Given the description of an element on the screen output the (x, y) to click on. 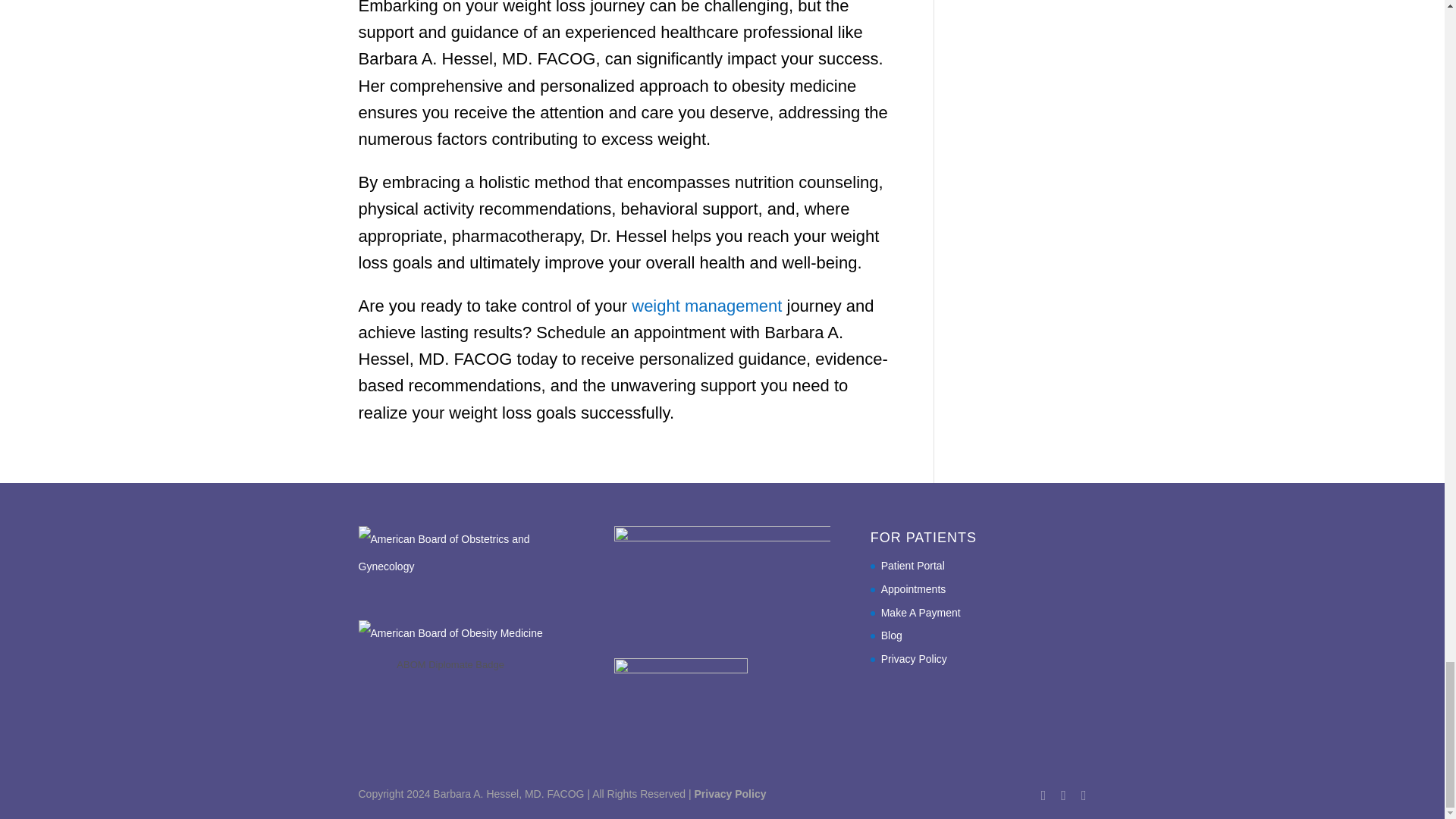
weight management (706, 305)
Privacy Policy (913, 658)
Blog (891, 635)
Patient Portal (912, 565)
Appointments (913, 589)
Privacy Policy (730, 793)
Make A Payment (920, 612)
